Given the description of an element on the screen output the (x, y) to click on. 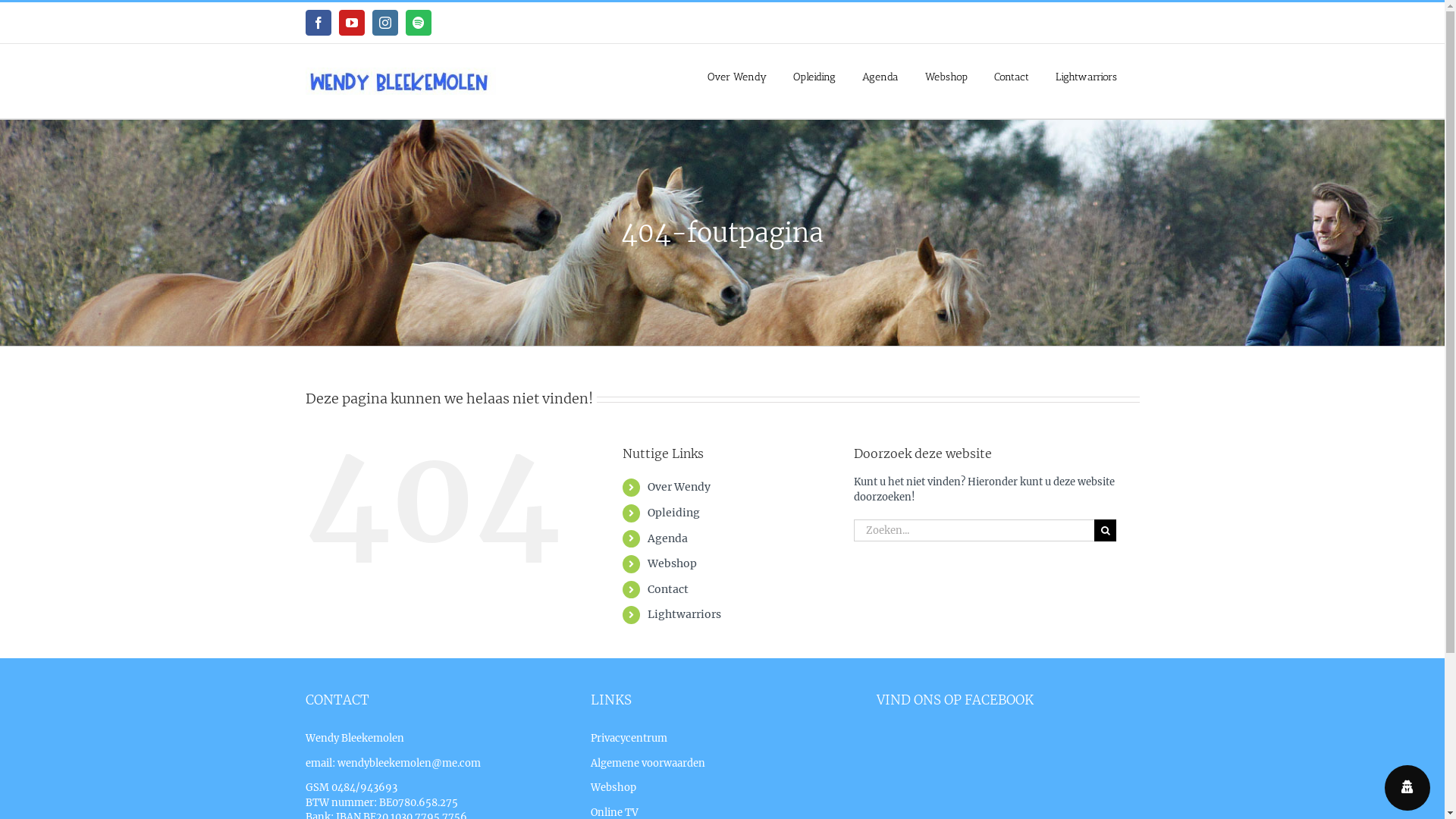
Over Wendy Element type: text (736, 75)
Facebook Element type: text (317, 22)
Contact Element type: text (667, 589)
Agenda Element type: text (667, 538)
Instagram Element type: text (384, 22)
YouTube Element type: text (351, 22)
Opleiding Element type: text (673, 512)
Privacycentrum Element type: text (628, 737)
Webshop Element type: text (613, 787)
Lightwarriors Element type: text (684, 614)
Opleiding Element type: text (813, 75)
Spotify Element type: text (417, 22)
Contact Element type: text (1011, 75)
Algemene voorwaarden Element type: text (647, 762)
Webshop Element type: text (945, 75)
Lightwarriors Element type: text (1085, 75)
Agenda Element type: text (880, 75)
Over Wendy Element type: text (678, 486)
Webshop Element type: text (671, 563)
